Given the description of an element on the screen output the (x, y) to click on. 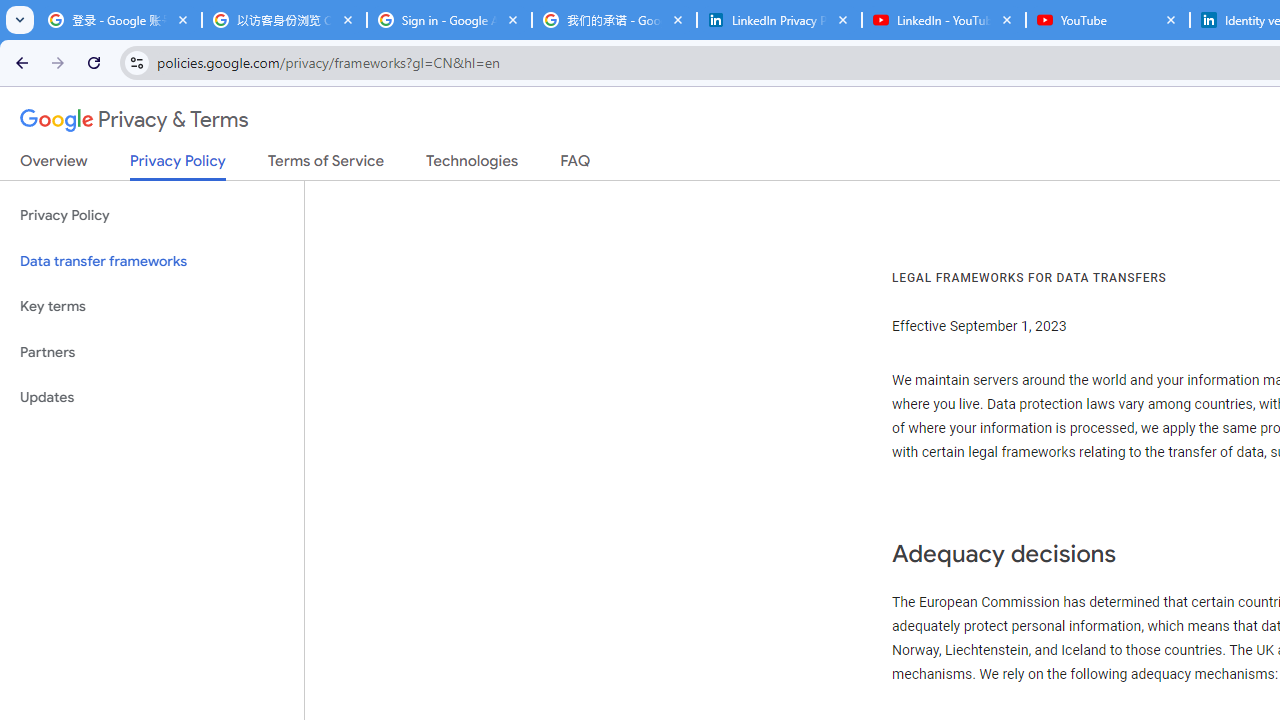
Privacy & Terms (134, 120)
Partners (152, 352)
Terms of Service (326, 165)
Overview (54, 165)
Sign in - Google Accounts (449, 20)
